Given the description of an element on the screen output the (x, y) to click on. 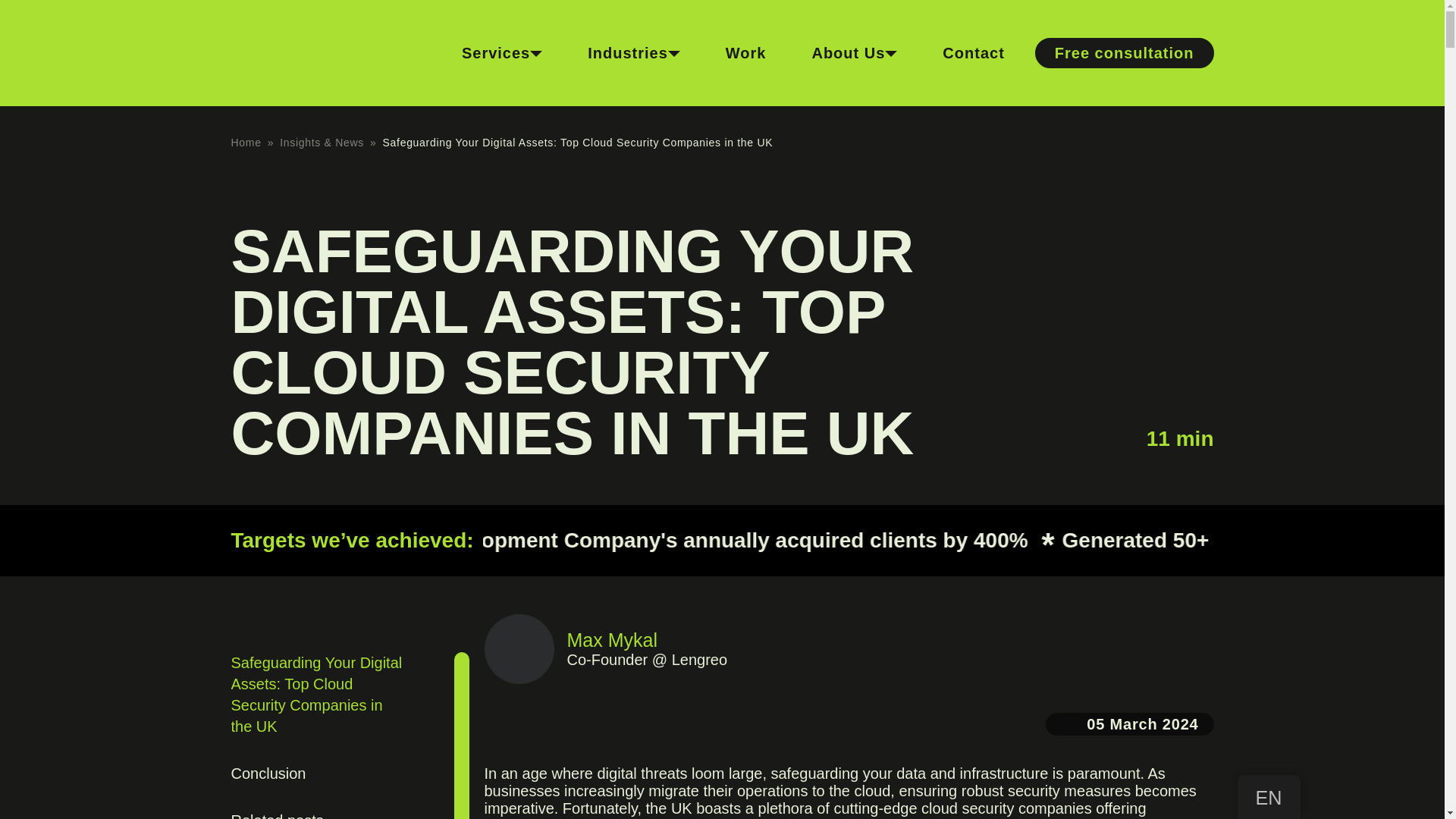
LenGreo logo (304, 50)
LenGreo logo (304, 55)
Industries (633, 52)
Services (501, 52)
